Given the description of an element on the screen output the (x, y) to click on. 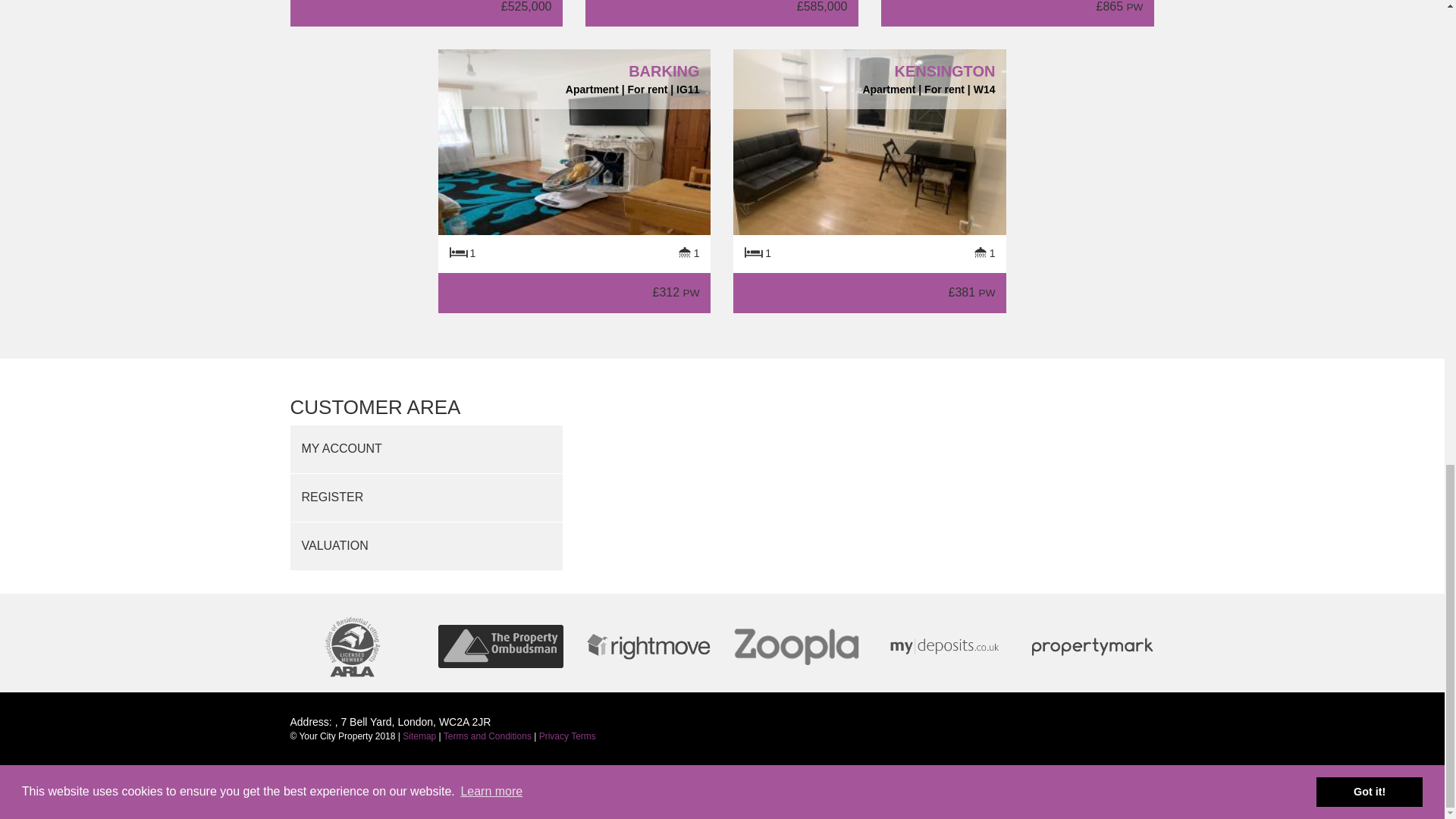
REGISTER (425, 497)
Design and powered by . (721, 779)
Sitemap (419, 736)
Privacy Terms (566, 736)
Terms and Conditions (487, 736)
MY ACCOUNT (425, 449)
VALUATION (425, 546)
